Given the description of an element on the screen output the (x, y) to click on. 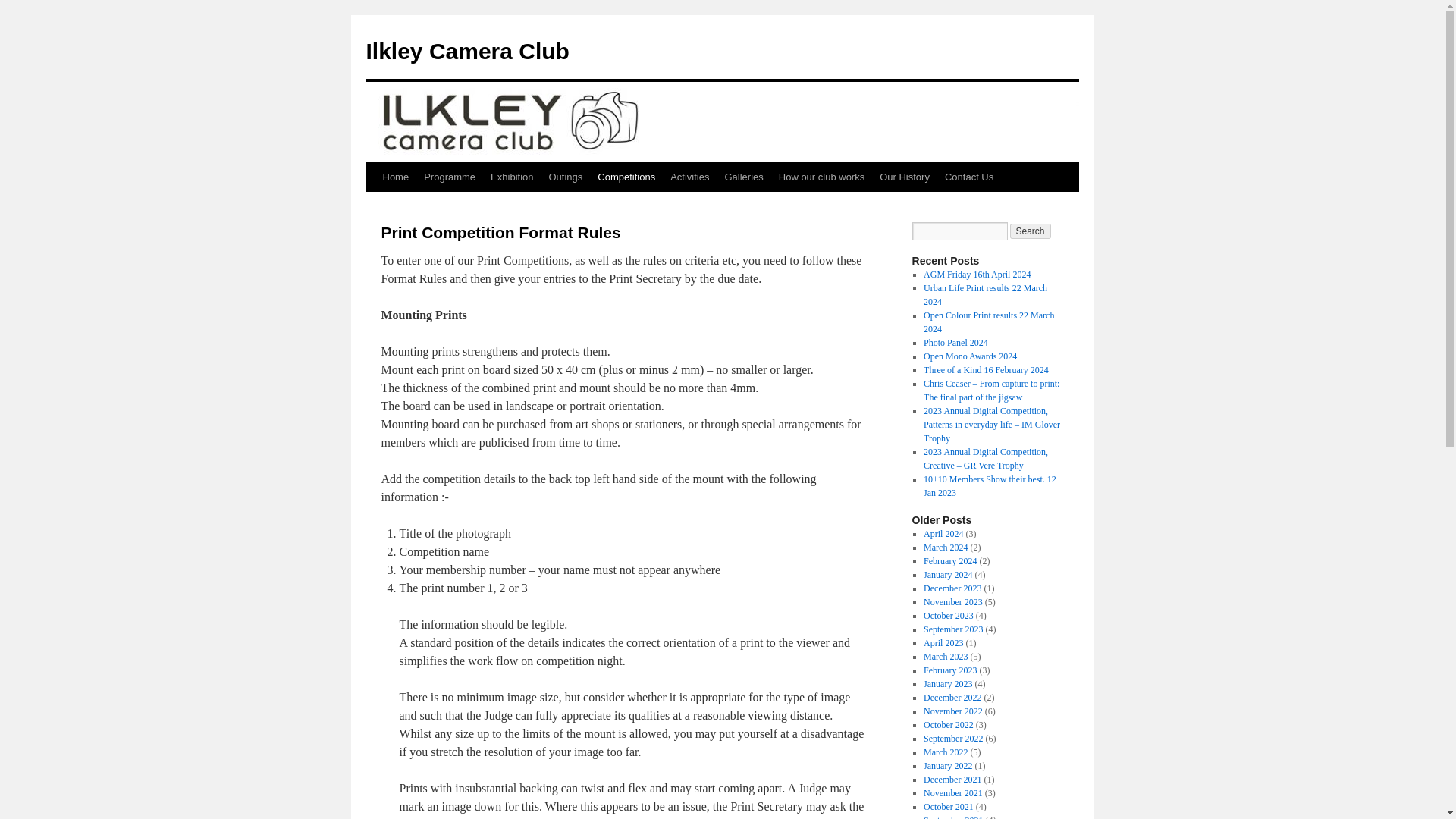
Ilkley Camera Club (467, 50)
Exhibition (511, 176)
Programme (449, 176)
Outings (564, 176)
Search (1030, 231)
Home (395, 176)
Competitions (625, 176)
